Given the description of an element on the screen output the (x, y) to click on. 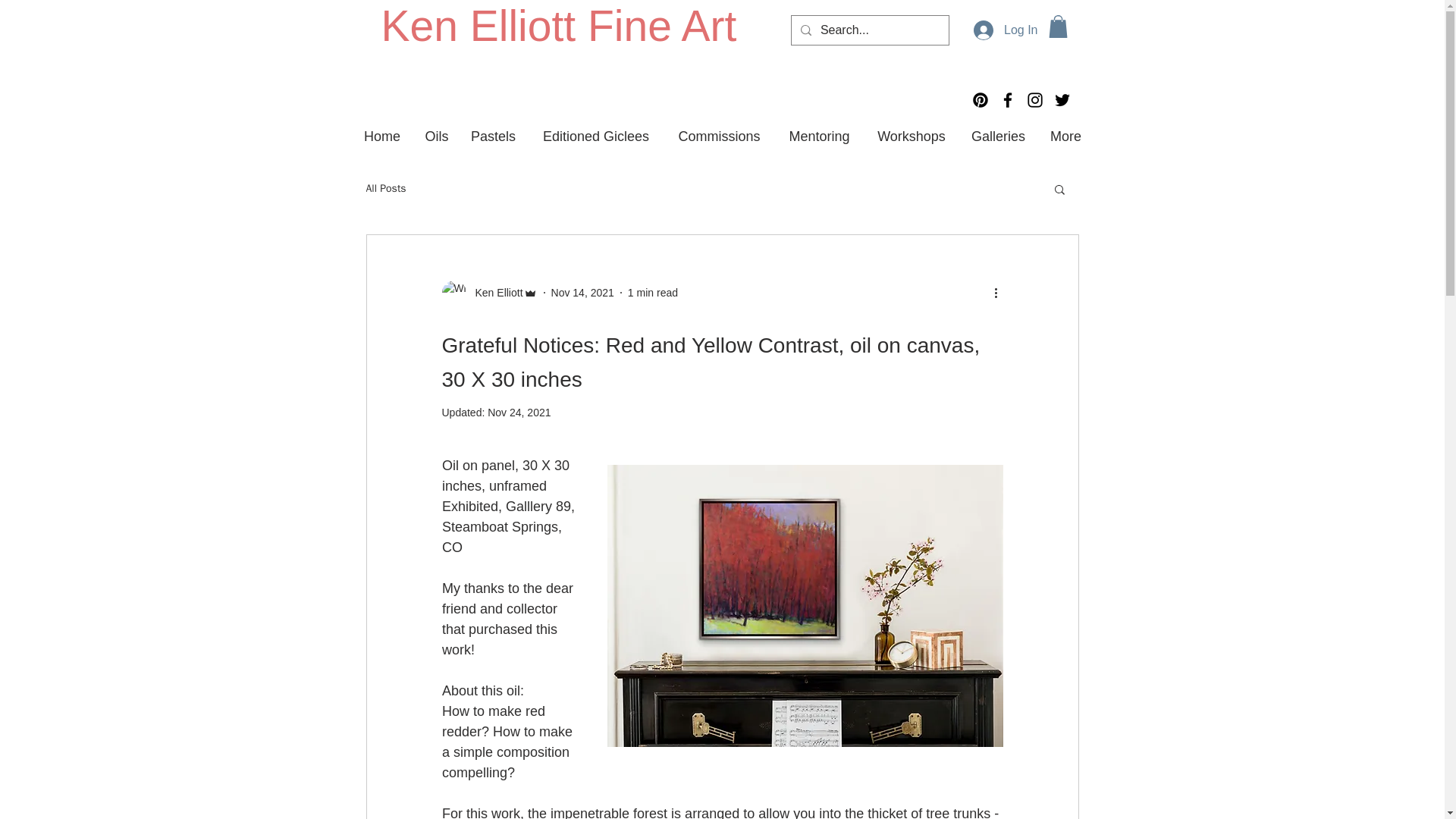
Ken Elliott (493, 293)
Home (381, 136)
Oils (435, 136)
Ken Elliott (489, 292)
Editioned Giclees (595, 136)
Pastels (492, 136)
Ken Elliott Fine Art (558, 25)
Mentoring (819, 136)
1 min read (652, 292)
Nov 24, 2021 (518, 412)
Workshops (911, 136)
All Posts (385, 188)
Nov 14, 2021 (582, 292)
Galleries (997, 136)
Log In (1005, 30)
